Given the description of an element on the screen output the (x, y) to click on. 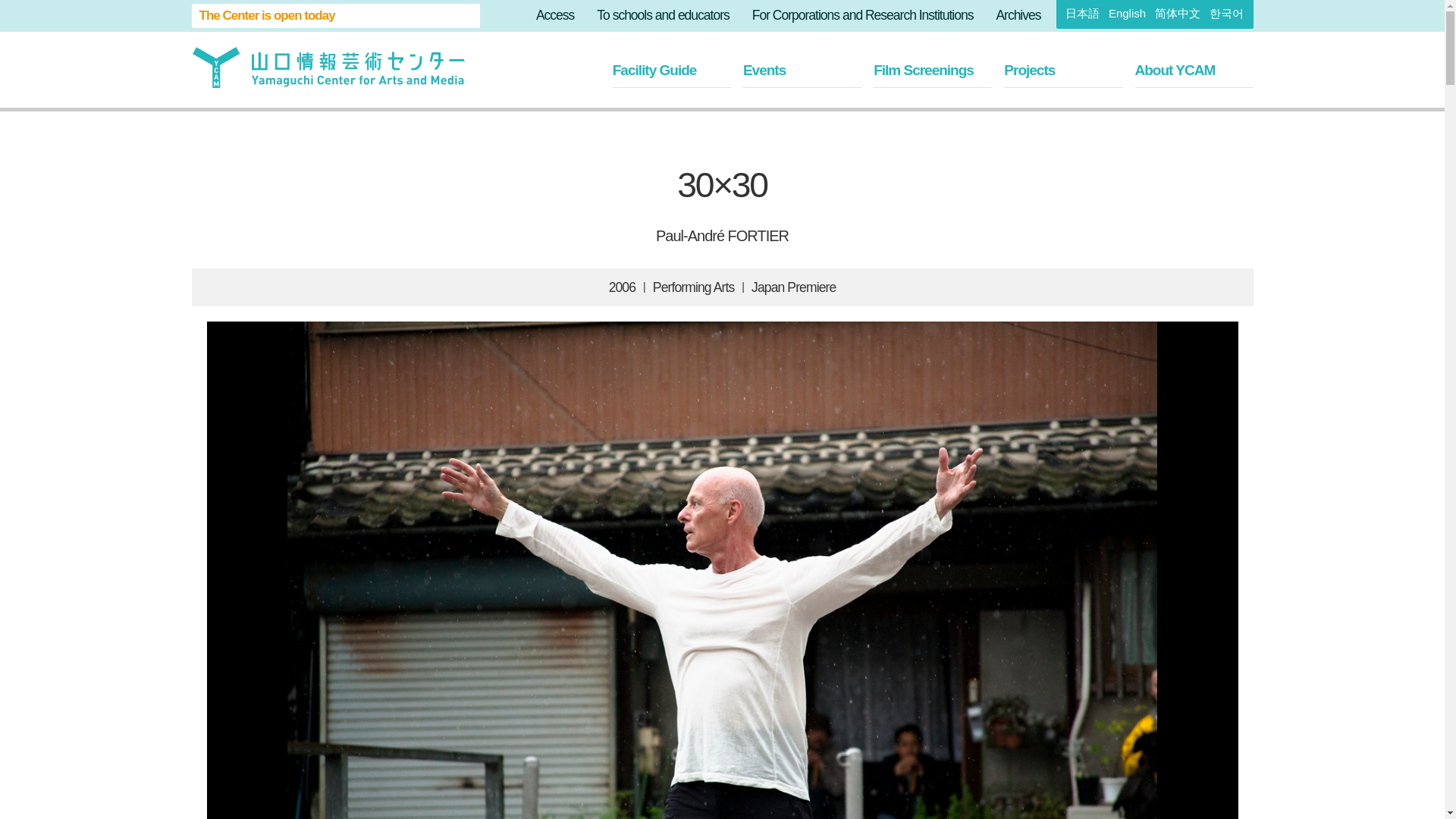
English (1126, 12)
To schools and educators (662, 14)
About YCAM (1193, 69)
Projects (1063, 69)
Film Screenings (932, 69)
Access (554, 14)
Archives (1018, 14)
For Corporations and Research Institutions (863, 14)
Events (801, 69)
Facility Guide (671, 69)
